Given the description of an element on the screen output the (x, y) to click on. 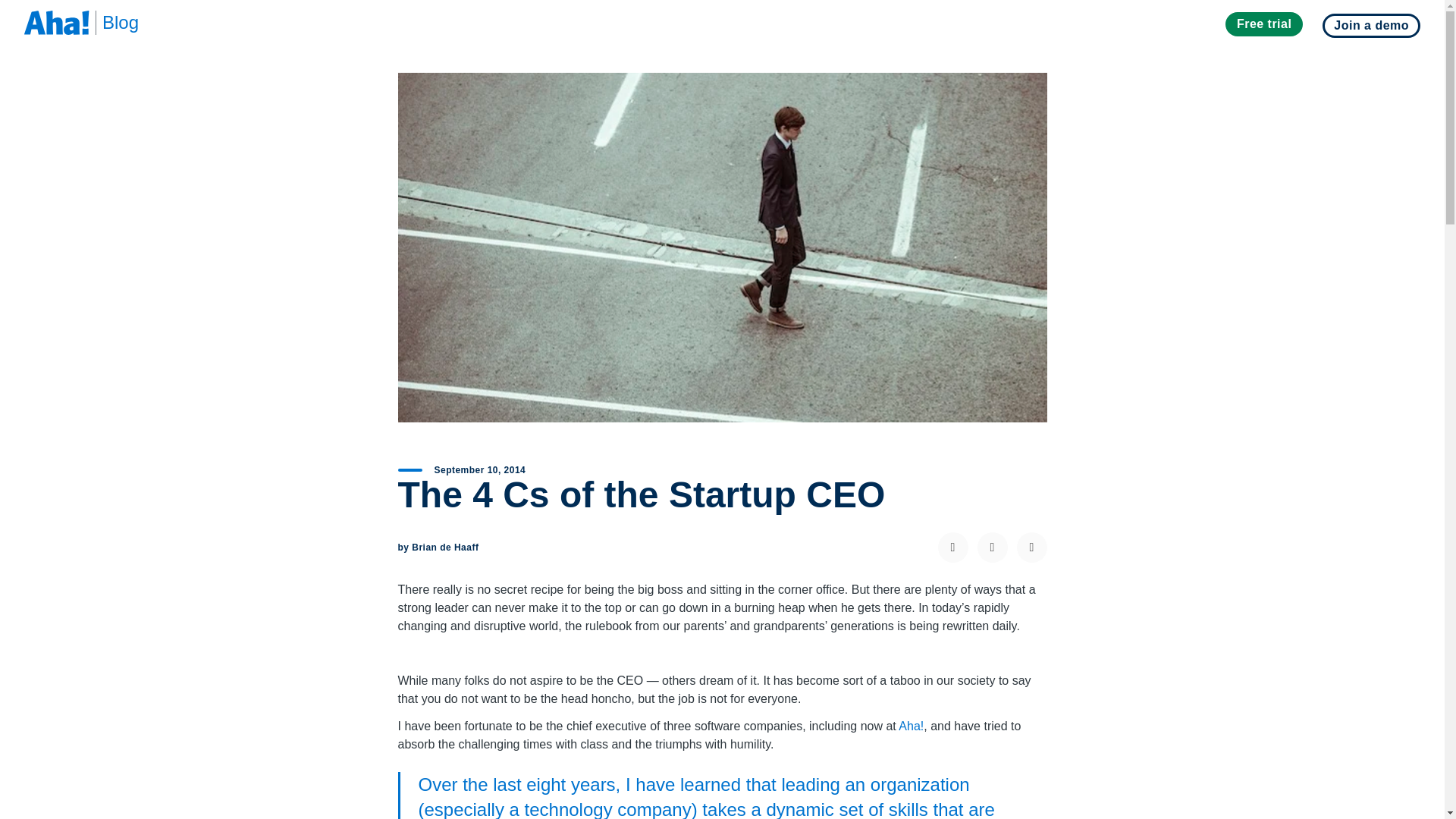
Join a demo (1371, 25)
Free trial (1264, 24)
Aha! (910, 725)
Blog (113, 22)
